Given the description of an element on the screen output the (x, y) to click on. 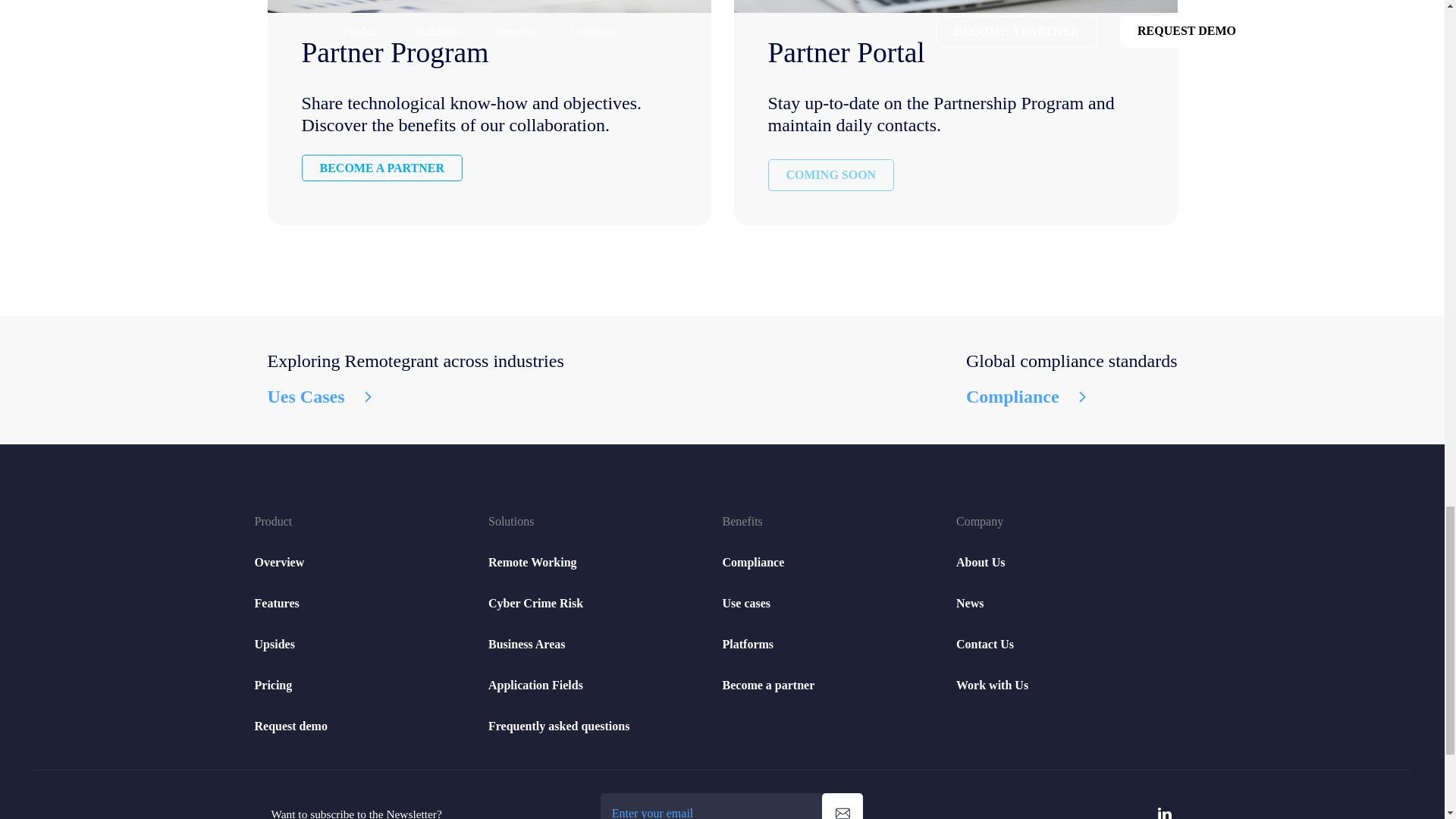
Contact Us (984, 644)
Frequently asked questions (557, 725)
COMING SOON (830, 174)
Ues Cases (414, 396)
Remote Working (531, 562)
About Us (980, 562)
Platforms (747, 644)
Overview (279, 562)
Cyber Crime Risk (535, 603)
Compliance (753, 562)
Become a partner (767, 684)
Work with Us (991, 684)
Business Areas (526, 644)
Pricing (273, 684)
Upsides (274, 644)
